Given the description of an element on the screen output the (x, y) to click on. 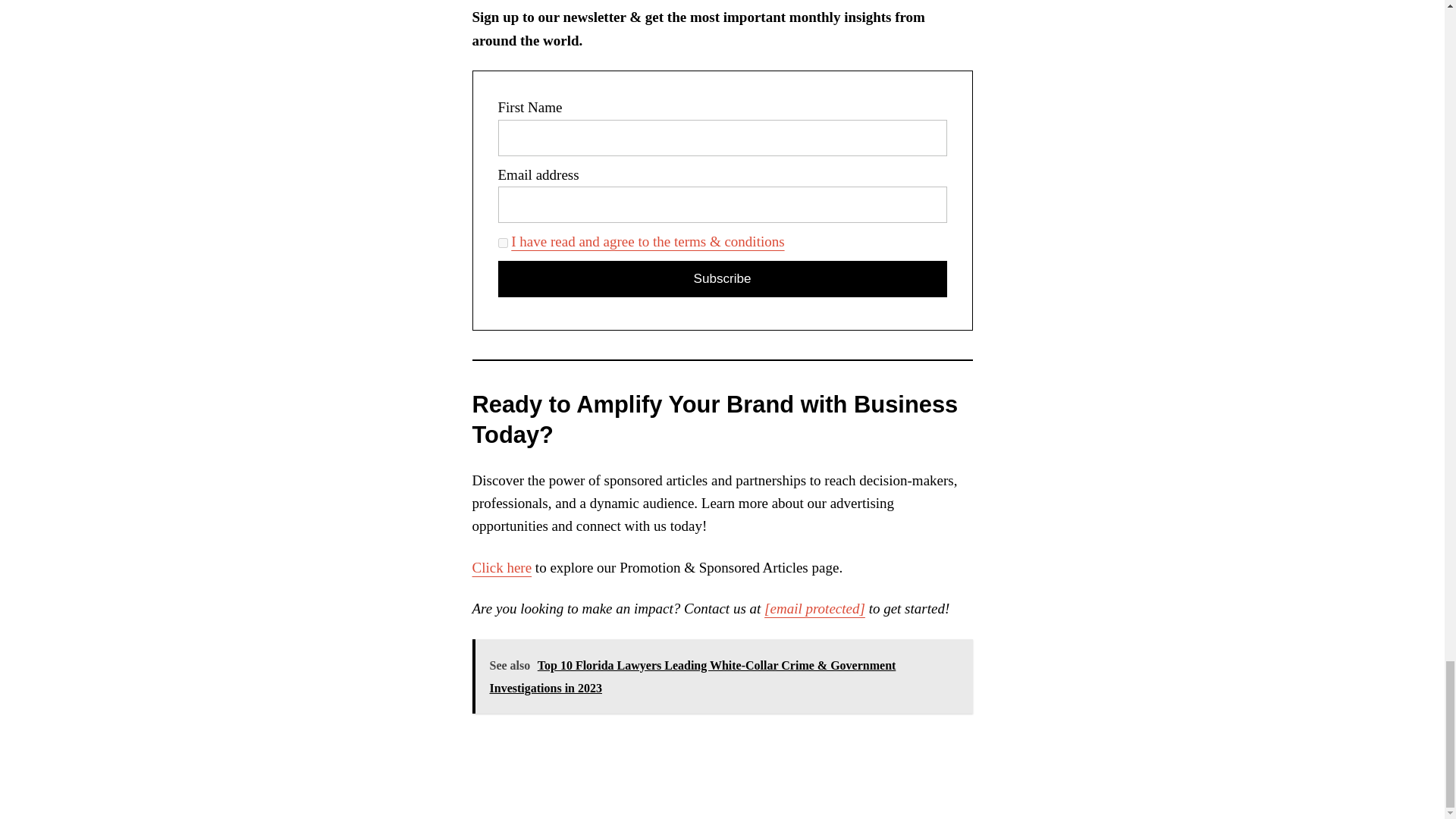
1 (501, 243)
Subscribe (721, 279)
